Given the description of an element on the screen output the (x, y) to click on. 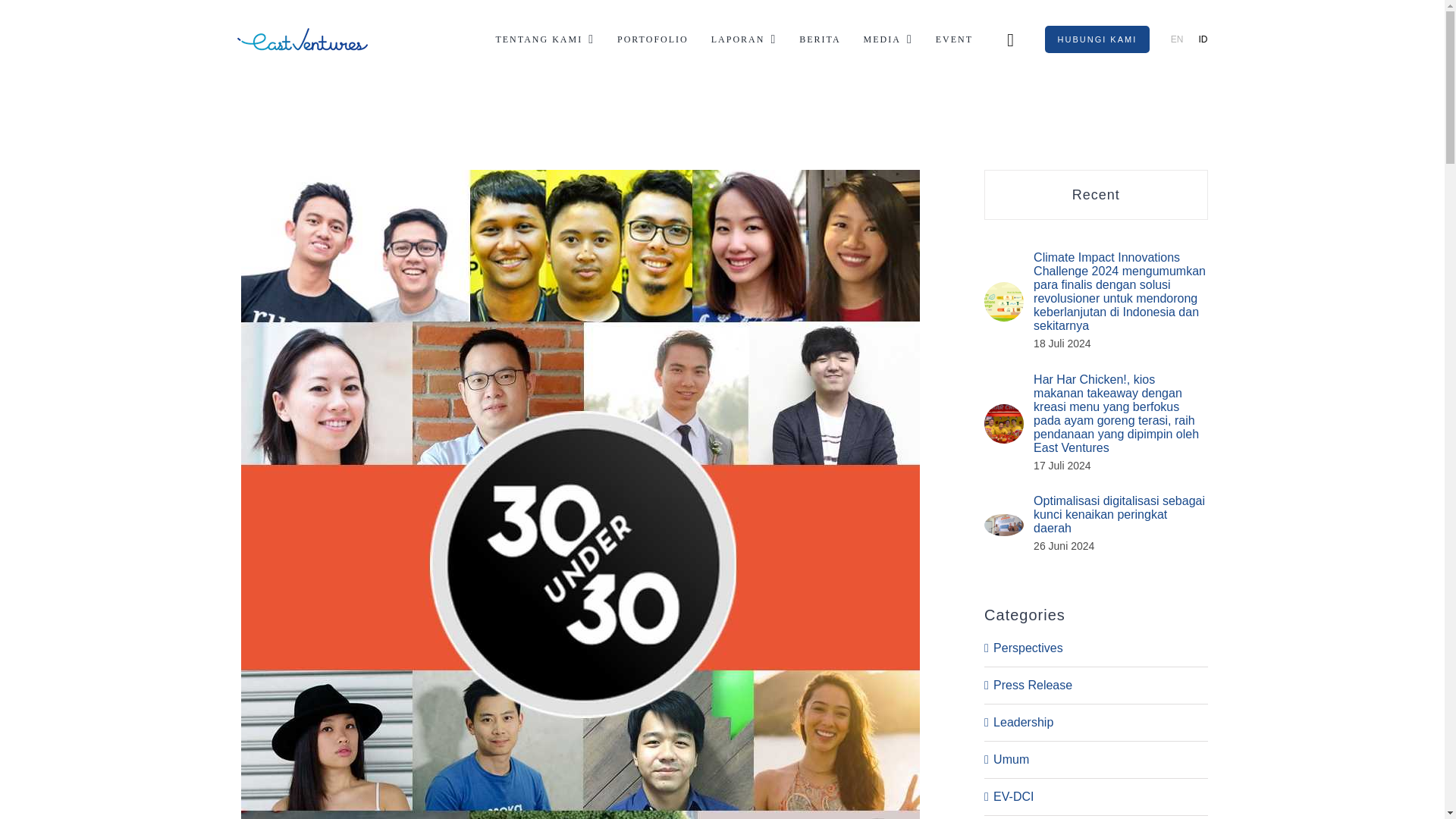
Press Release (1095, 685)
EVENT (954, 39)
LAPORAN (744, 39)
HUBUNGI KAMI (1097, 39)
EN (1176, 38)
Leadership (1095, 721)
EV-DCI (1095, 795)
BERITA (819, 39)
TENTANG KAMI (544, 39)
Umum (1095, 759)
Perspectives (1095, 647)
PORTOFOLIO (652, 39)
